Given the description of an element on the screen output the (x, y) to click on. 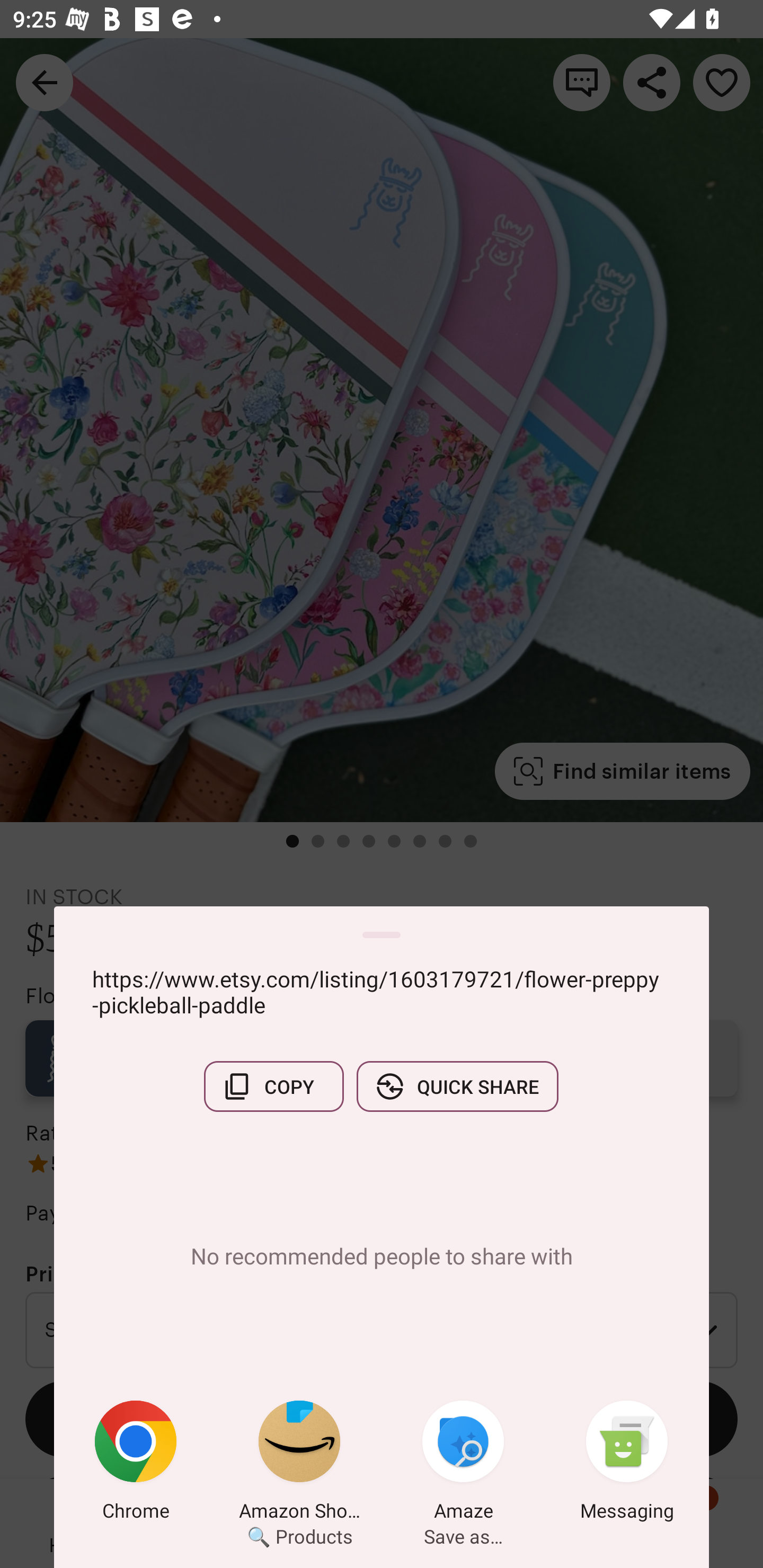
COPY (273, 1086)
QUICK SHARE (457, 1086)
Chrome (135, 1463)
Amazon Shopping 🔍 Products (299, 1463)
Amaze Save as… (463, 1463)
Messaging (626, 1463)
